Given the description of an element on the screen output the (x, y) to click on. 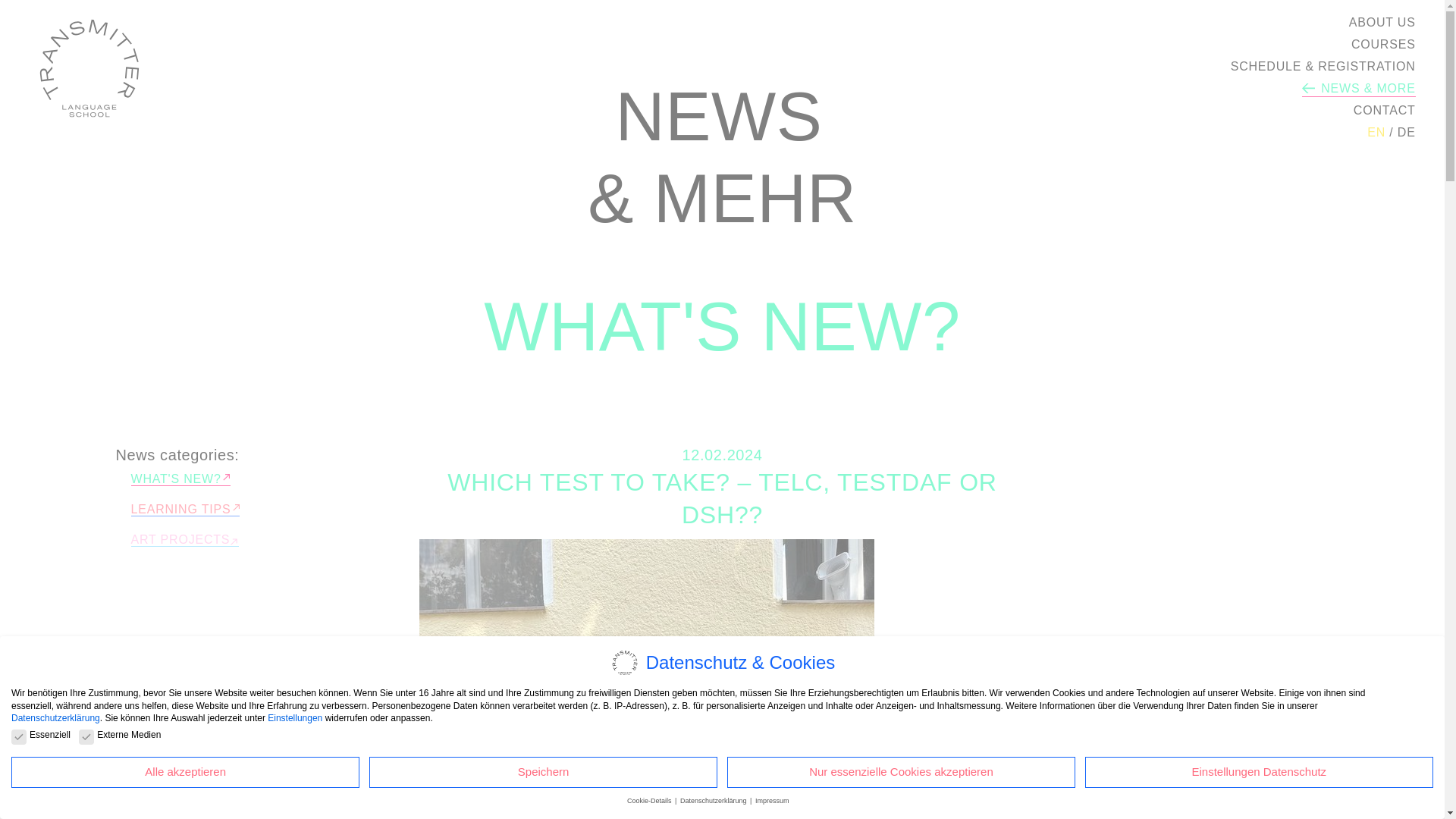
COURSES (1383, 44)
CONTACT (1384, 110)
ABOUT US (1382, 23)
DE (1406, 132)
ART PROJECTS (184, 540)
LEARNING TIPS (185, 509)
WHAT'S NEW? (180, 479)
EN (1376, 132)
